Given the description of an element on the screen output the (x, y) to click on. 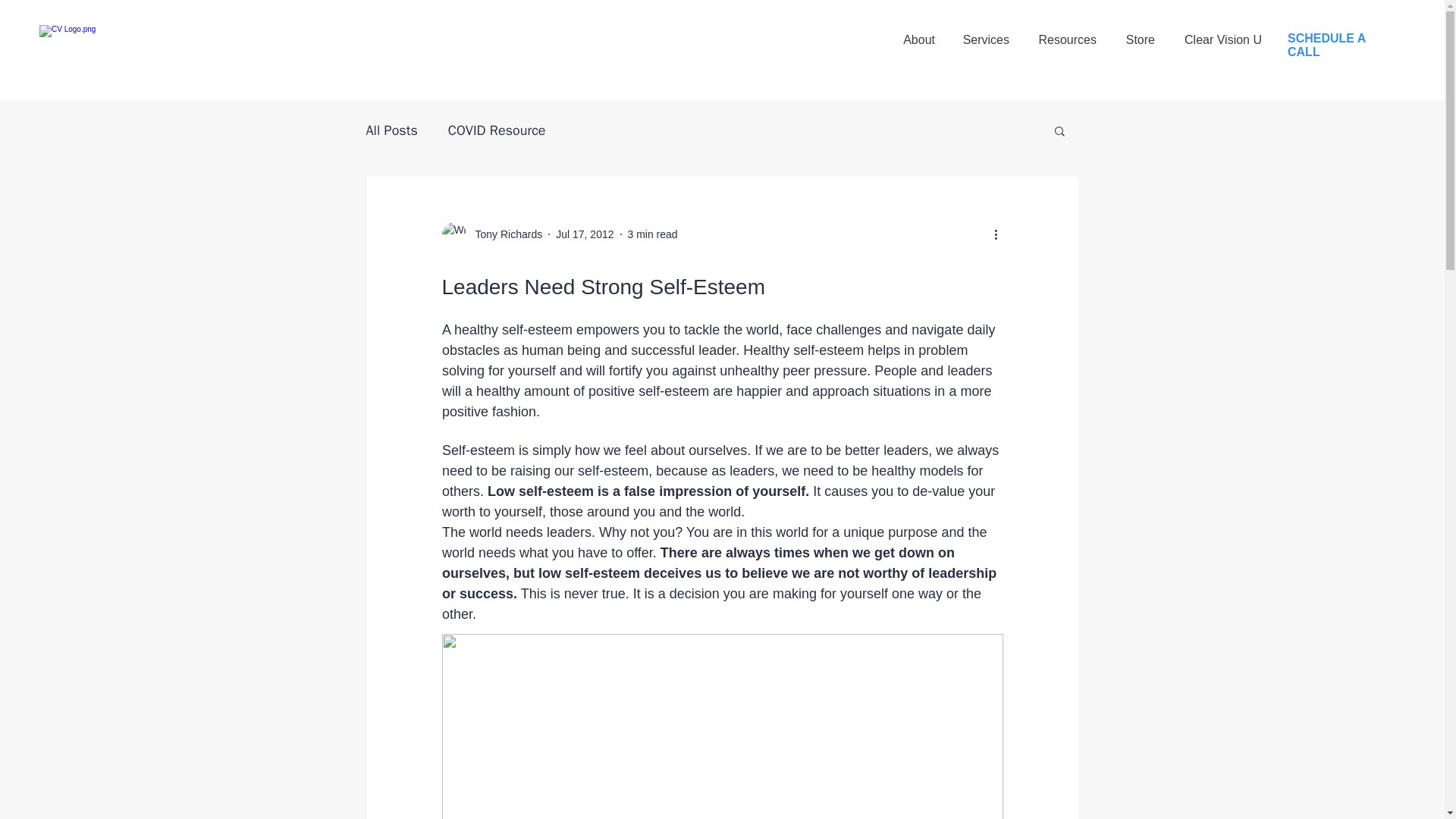
Clear Vision U (1222, 32)
About (917, 32)
Resources (1066, 32)
Tony Richards (503, 233)
SCHEDULE A CALL (1326, 44)
Services (986, 32)
All Posts (390, 130)
COVID Resource (497, 130)
3 min read (652, 233)
Jul 17, 2012 (584, 233)
